Given the description of an element on the screen output the (x, y) to click on. 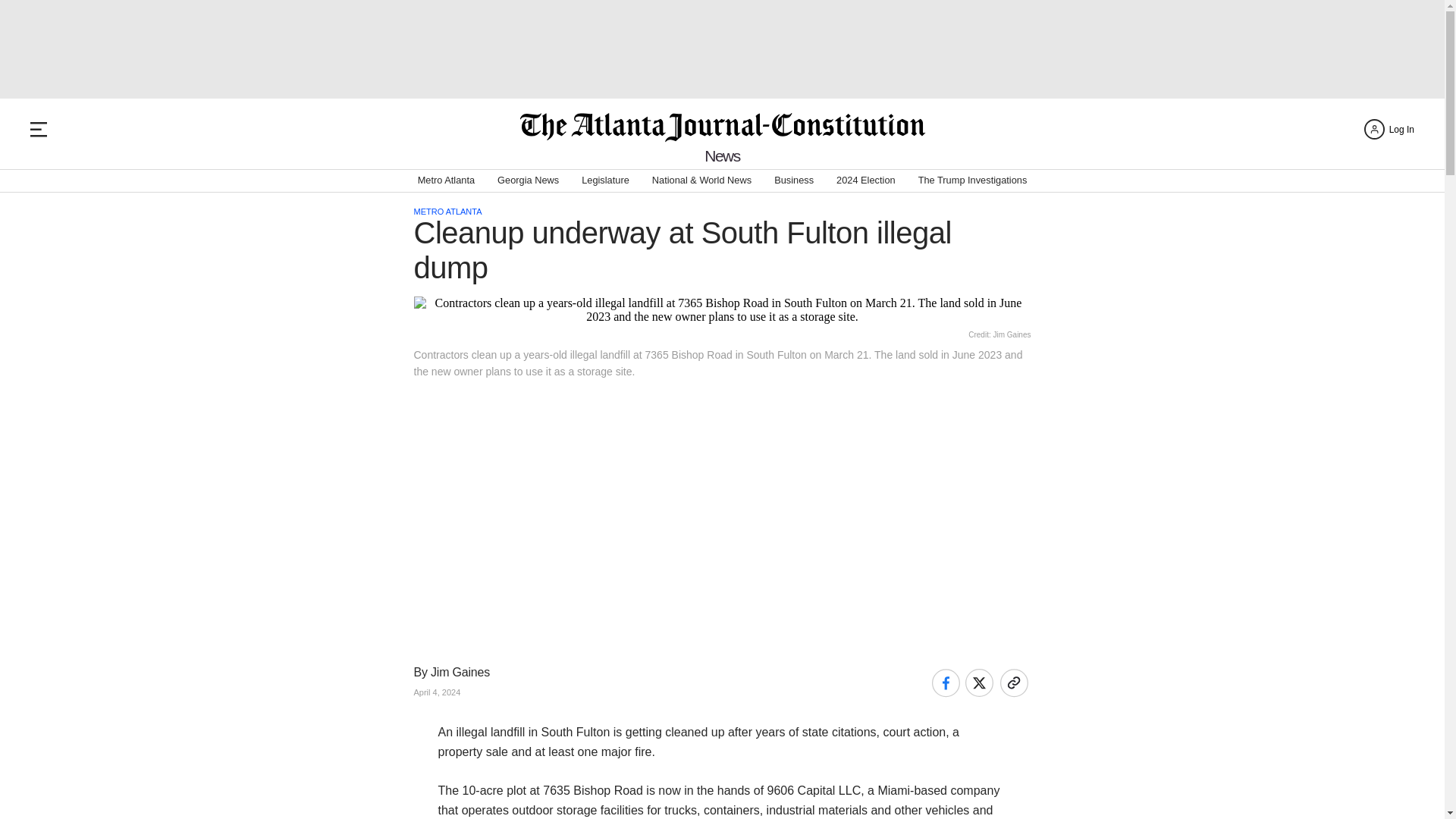
News (721, 155)
2024 Election (865, 180)
Metro Atlanta (445, 180)
Georgia News (528, 180)
Legislature (604, 180)
The Trump Investigations (972, 180)
Business (793, 180)
